Given the description of an element on the screen output the (x, y) to click on. 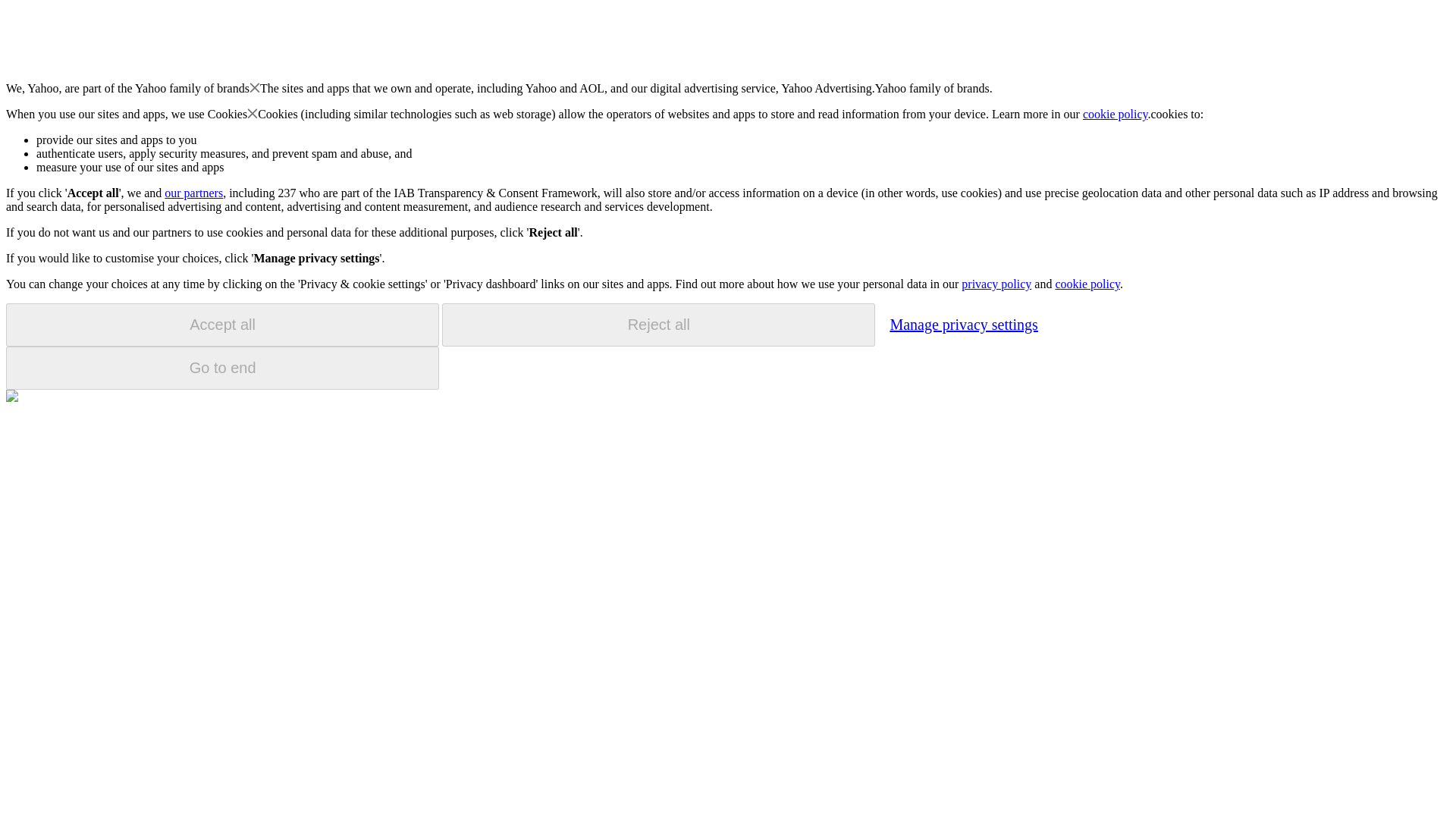
cookie policy (1086, 283)
Go to end (222, 367)
cookie policy (1115, 113)
privacy policy (995, 283)
our partners (193, 192)
Accept all (222, 324)
Reject all (658, 324)
Manage privacy settings (963, 323)
